Given the description of an element on the screen output the (x, y) to click on. 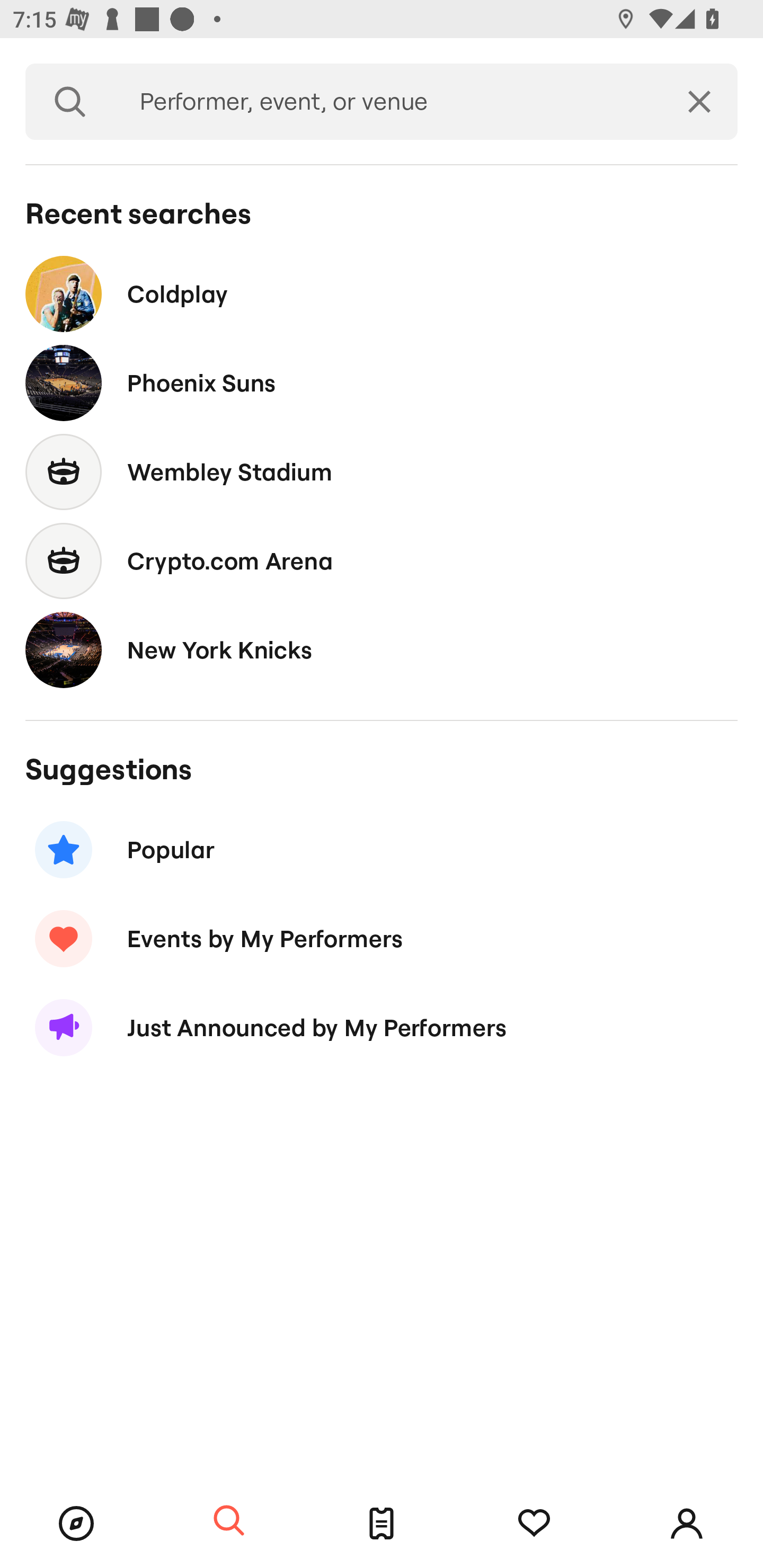
Search (69, 101)
Performer, event, or venue (387, 101)
Clear (699, 101)
Coldplay (381, 293)
Phoenix Suns (381, 383)
Wembley Stadium (381, 471)
Crypto.com Arena (381, 560)
New York Knicks (381, 649)
Popular (381, 849)
Events by My Performers (381, 938)
Just Announced by My Performers (381, 1027)
Browse (76, 1523)
Search (228, 1521)
Tickets (381, 1523)
Tracking (533, 1523)
Account (686, 1523)
